Given the description of an element on the screen output the (x, y) to click on. 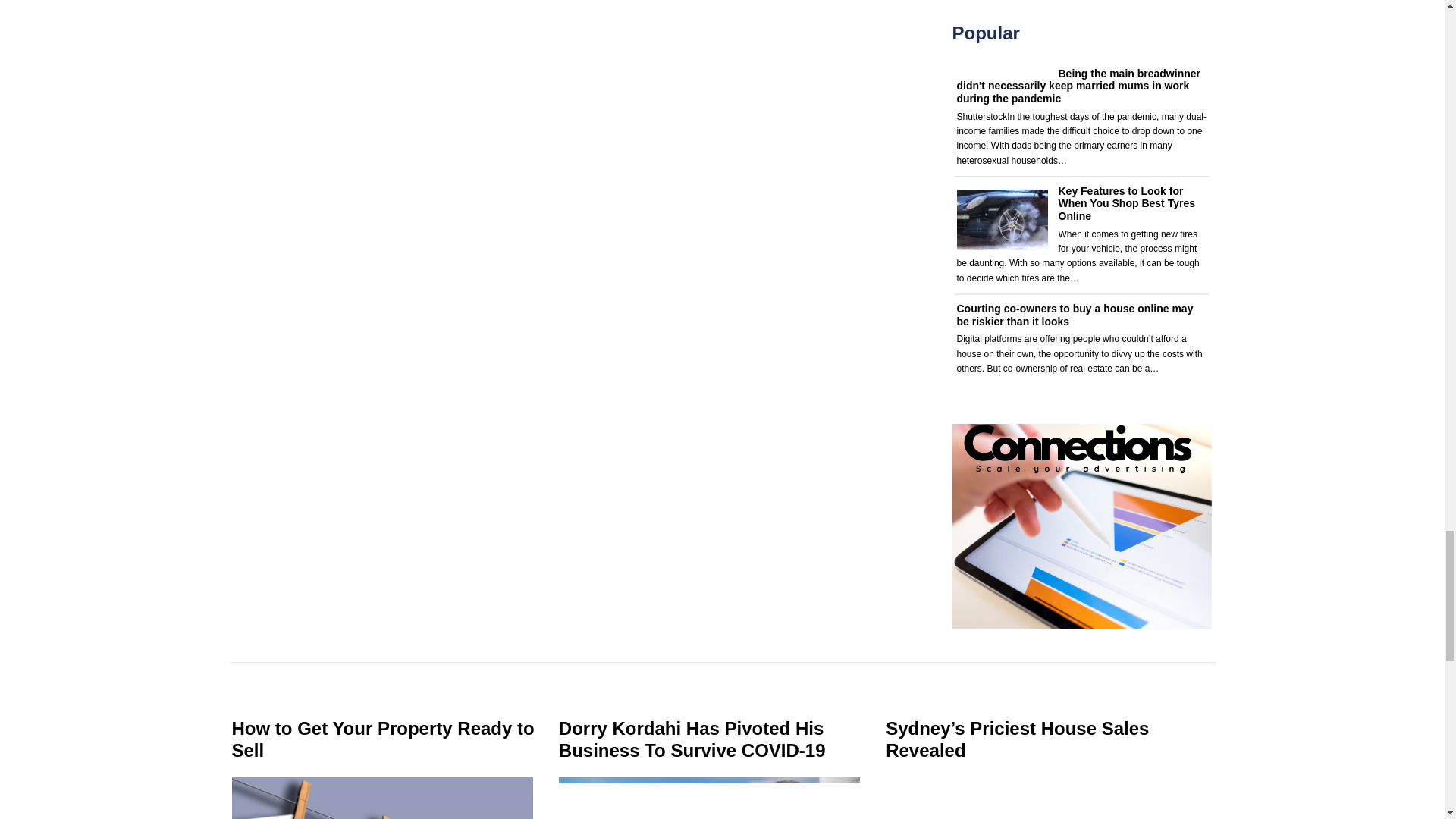
Dorry Kordahi Has Pivoted His Business To Survive COVID-19 (692, 739)
Key Features to Look for When You Shop Best Tyres Online (1126, 203)
How to Get Your Property Ready to Sell  (382, 739)
